Given the description of an element on the screen output the (x, y) to click on. 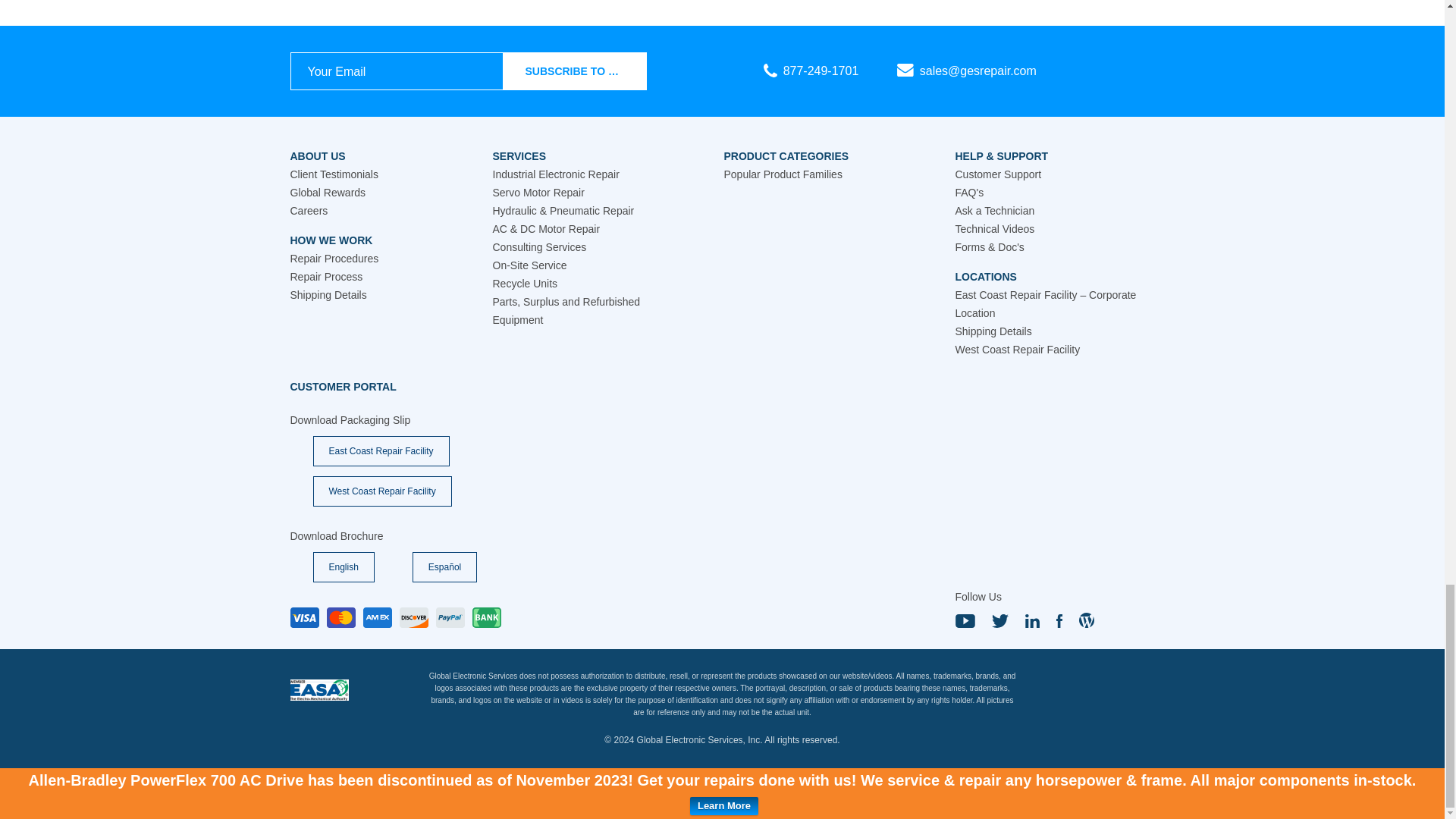
Opens in a new window (342, 386)
